Given the description of an element on the screen output the (x, y) to click on. 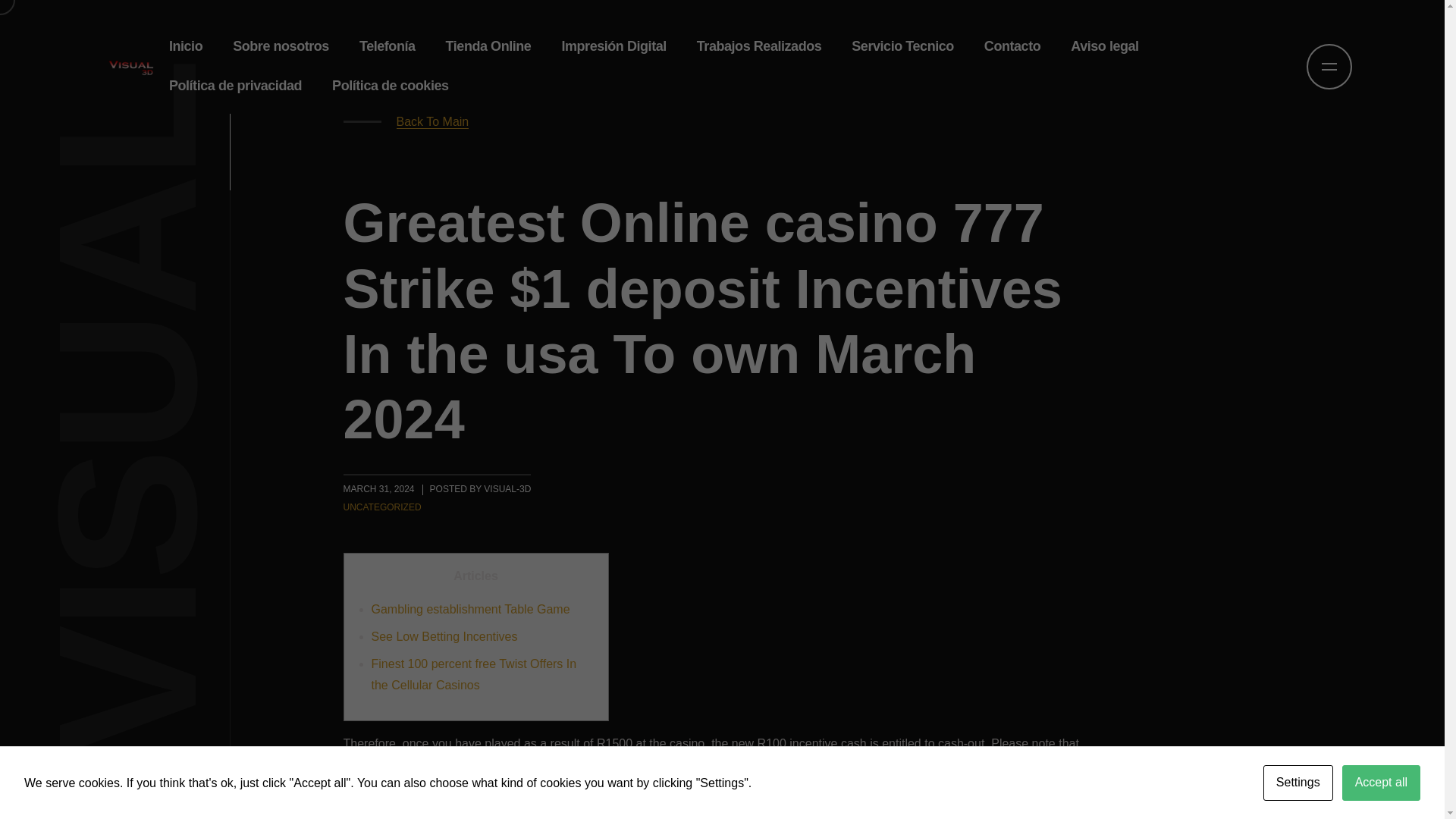
Aviso legal (1104, 46)
Servicio Tecnico (902, 46)
Inicio (185, 46)
Tienda Online (488, 46)
Sobre nosotros (279, 46)
Contacto (1012, 46)
Trabajos Realizados (759, 46)
